Given the description of an element on the screen output the (x, y) to click on. 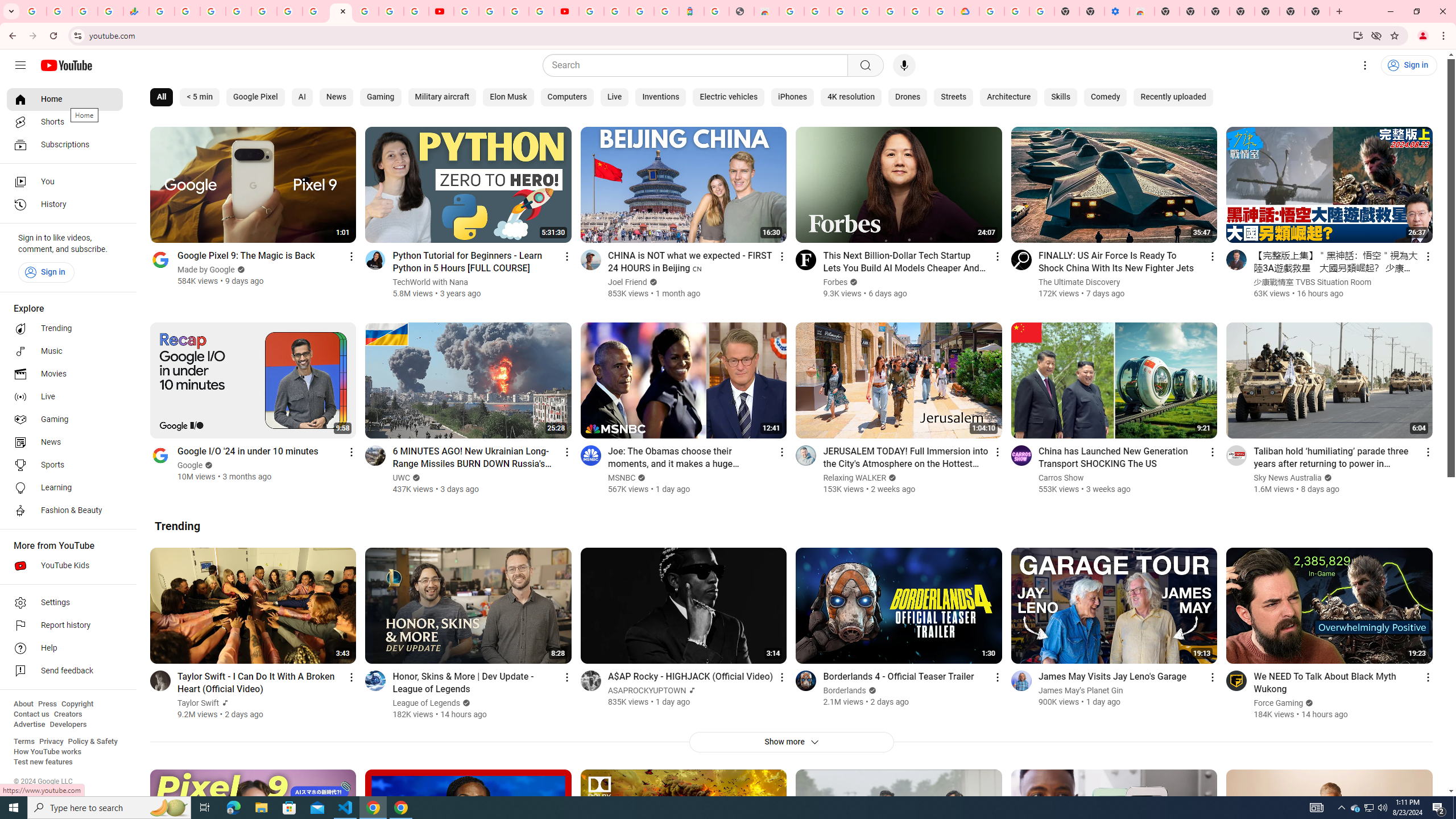
Google Account Help (491, 11)
Learning (64, 487)
Copyright (77, 703)
Architecture (1008, 97)
News (335, 97)
Press (46, 703)
Sports (64, 464)
Sign in - Google Accounts (616, 11)
iPhones (792, 97)
